Given the description of an element on the screen output the (x, y) to click on. 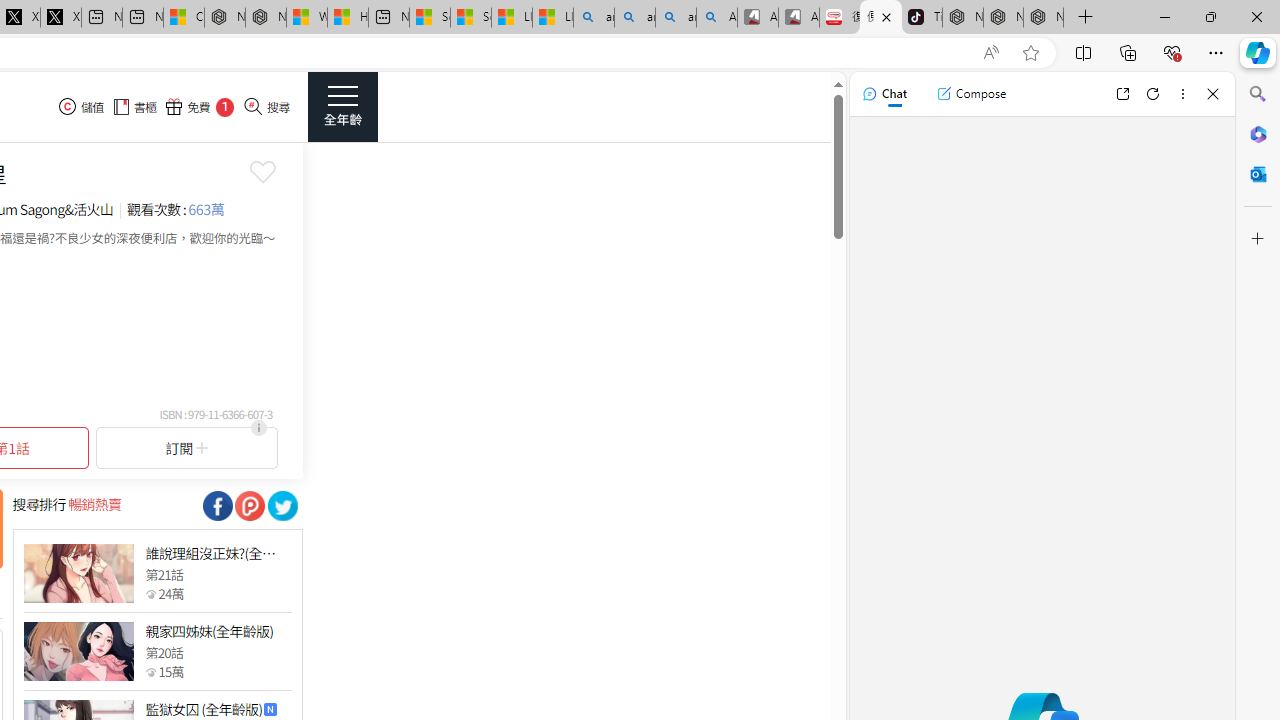
Add this page to favorites (Ctrl+D) (1030, 53)
Read aloud this page (Ctrl+Shift+U) (991, 53)
Wildlife - MSN (306, 17)
Close tab (886, 16)
More options (1182, 93)
New tab (388, 17)
Nordace - Best Sellers (963, 17)
Class: socialShare (282, 506)
